Given the description of an element on the screen output the (x, y) to click on. 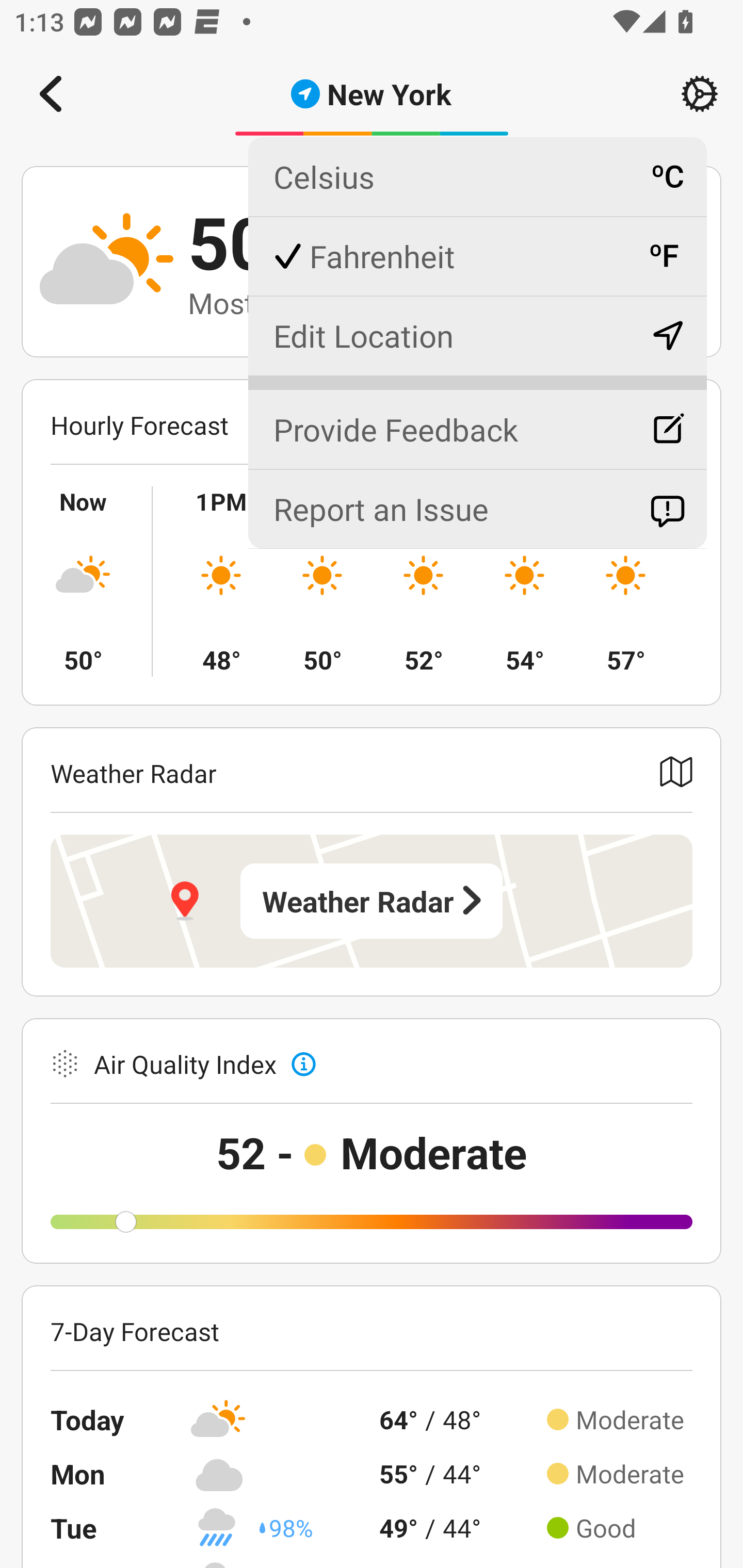
Celsius (477, 176)
Fahrenheit (477, 256)
Edit Location (477, 335)
Provide Feedback (477, 421)
Report an Issue (477, 508)
